Given the description of an element on the screen output the (x, y) to click on. 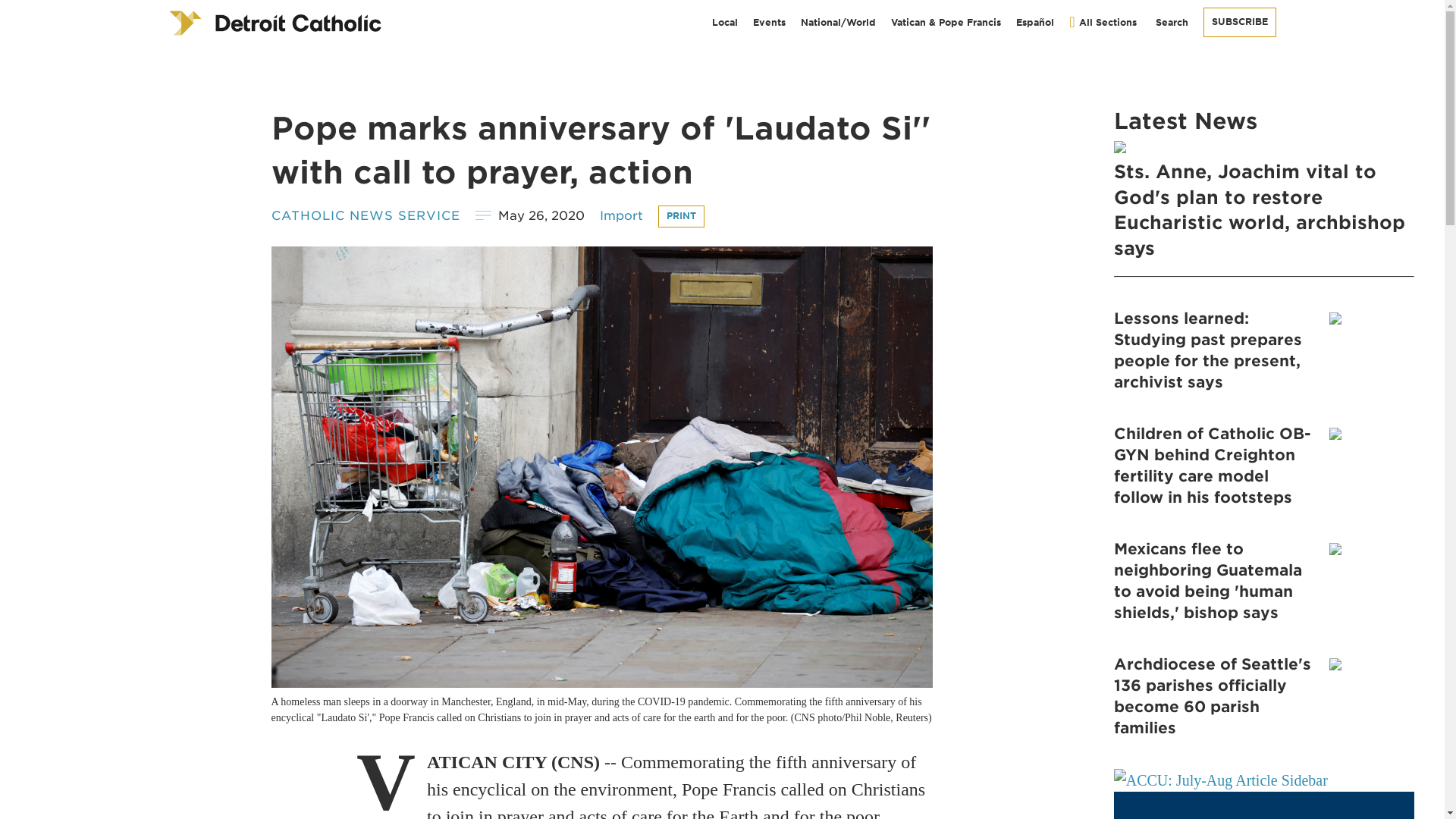
ACCU: July-Aug Article Sidebar (1220, 780)
